Given the description of an element on the screen output the (x, y) to click on. 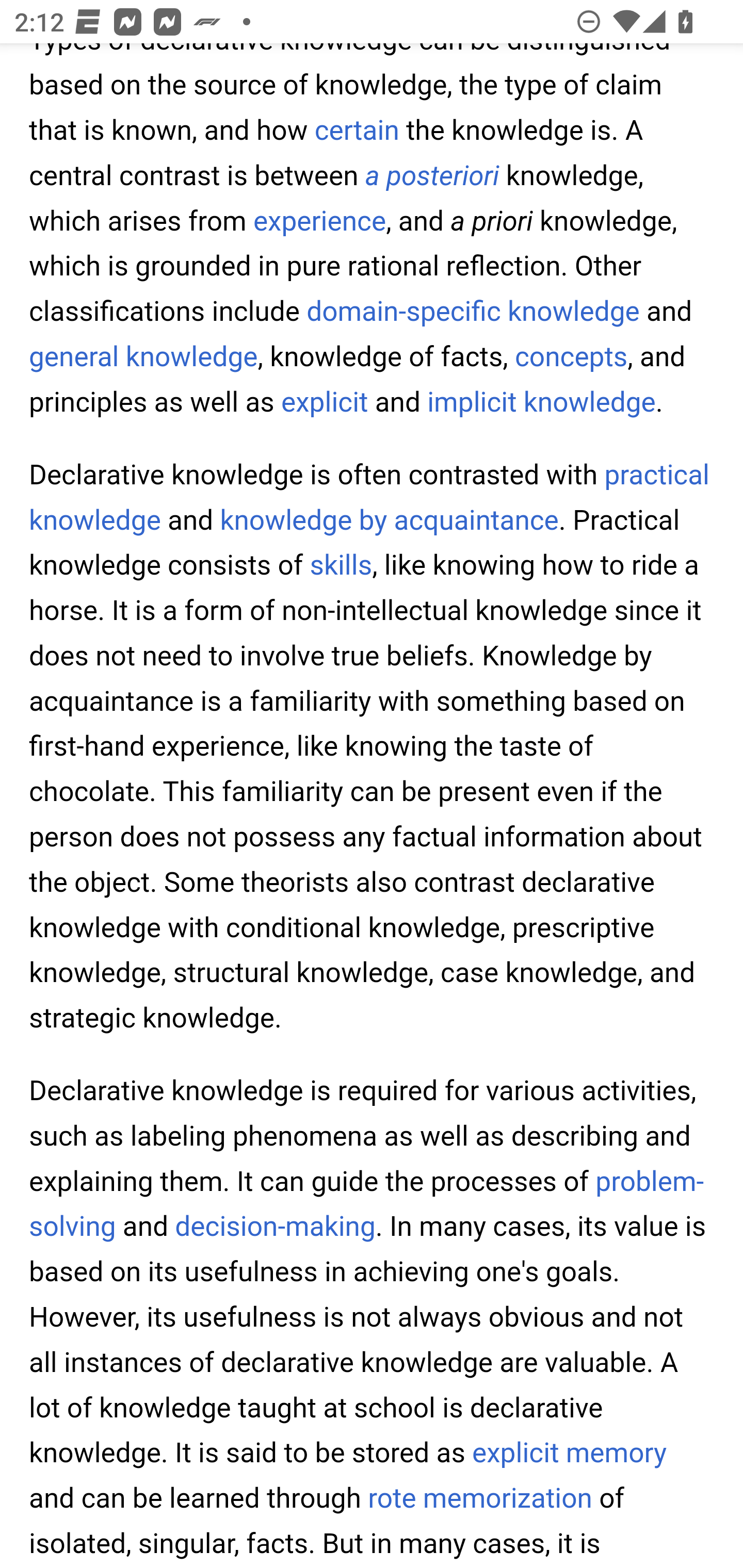
certain (357, 132)
a posteriori (432, 176)
experience (319, 222)
domain-specific knowledge (472, 313)
general knowledge (142, 357)
concepts (571, 357)
explicit (324, 402)
implicit knowledge (541, 402)
practical knowledge (369, 499)
knowledge by acquaintance (388, 521)
skills (340, 567)
problem-solving (366, 1205)
decision-making (275, 1227)
explicit memory (569, 1453)
rote memorization (479, 1500)
